Given the description of an element on the screen output the (x, y) to click on. 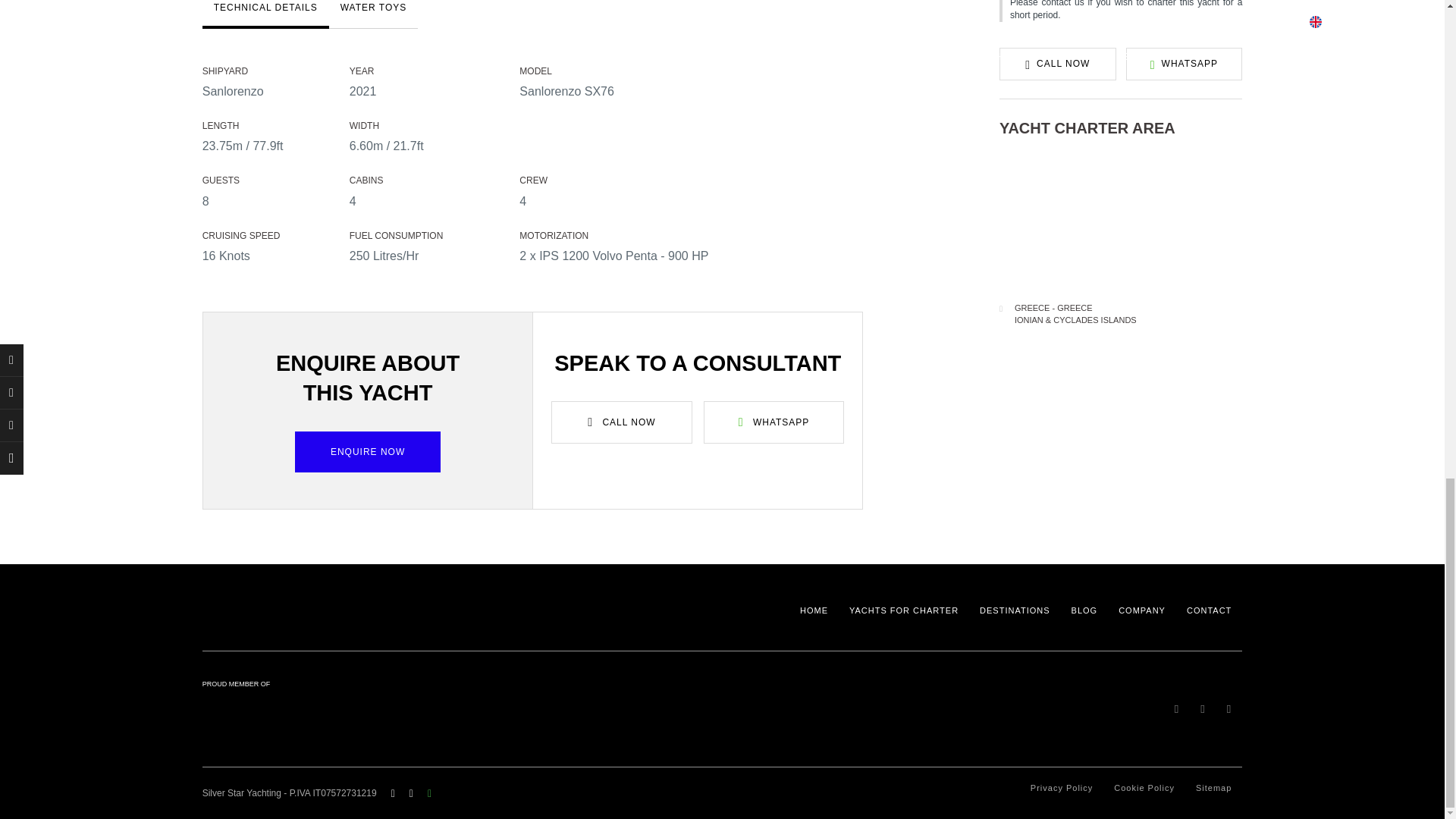
WHATSAPP (1184, 63)
CALL NOW (1057, 63)
